Given the description of an element on the screen output the (x, y) to click on. 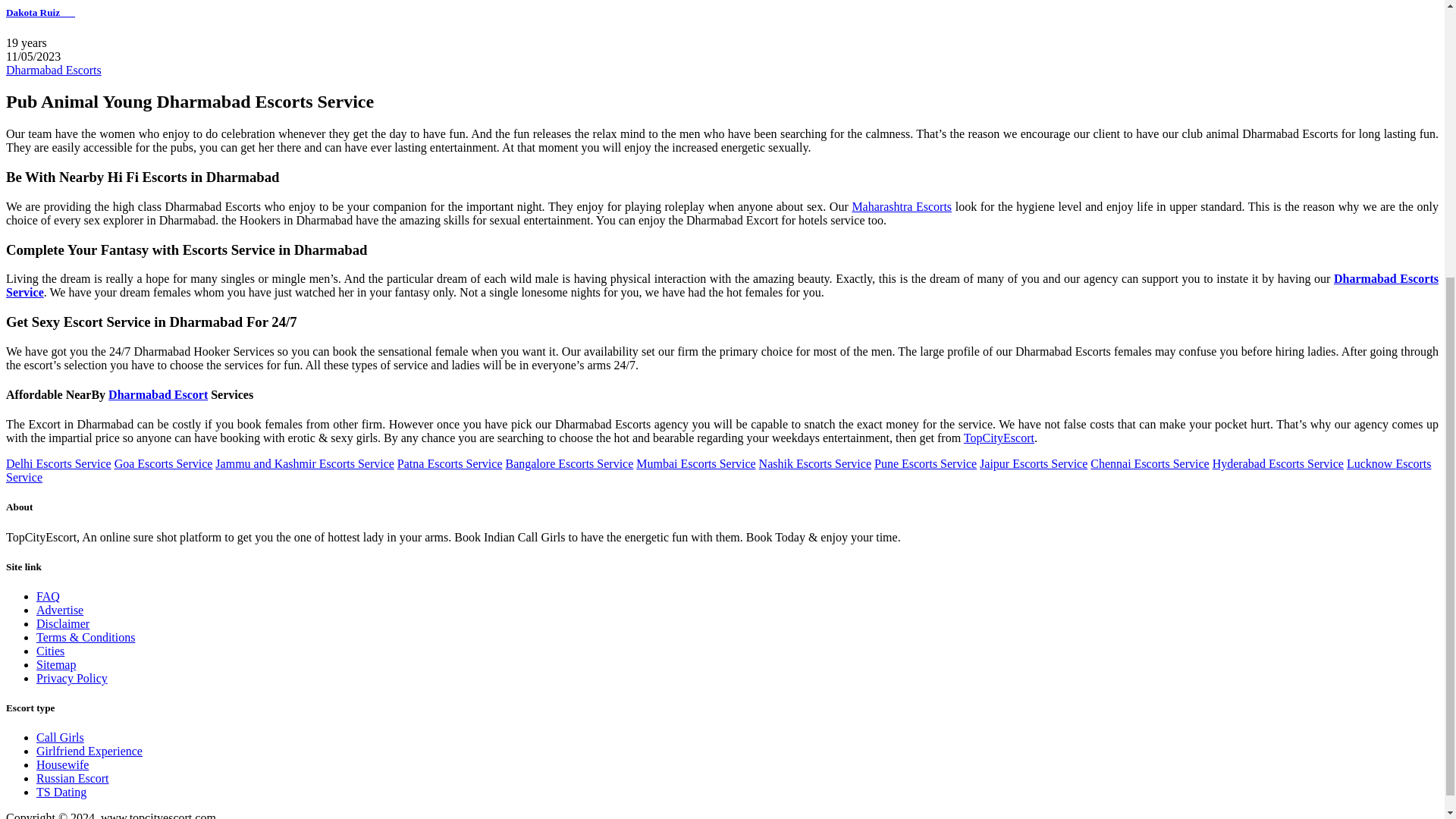
Hyderabad Escorts Service (1277, 463)
Goa Escorts Service (163, 463)
Dharmabad Escorts (53, 69)
Call Girls (60, 737)
Russian Escort (72, 778)
TopCityEscort (998, 437)
Cities (50, 650)
Sitemap (55, 664)
FAQ (47, 595)
Jaipur Escorts Service (1033, 463)
Bangalore Escorts Service (569, 463)
TS Dating (60, 791)
Disclaimer (62, 623)
Jammu and Kashmir Escorts Service (304, 463)
FAQ (47, 595)
